Given the description of an element on the screen output the (x, y) to click on. 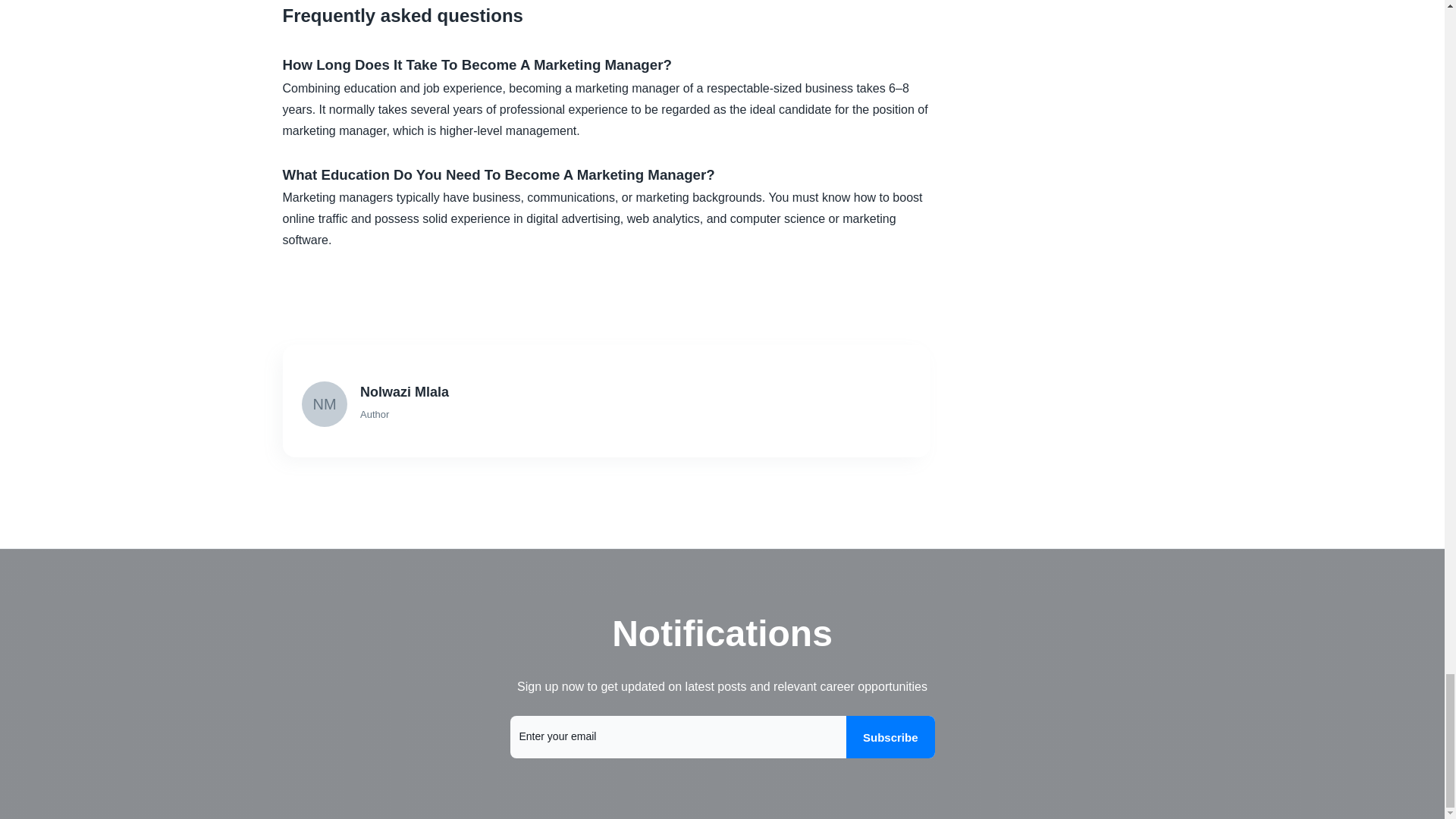
Subscribe (889, 736)
Nolwazi Mlala (608, 391)
